Given the description of an element on the screen output the (x, y) to click on. 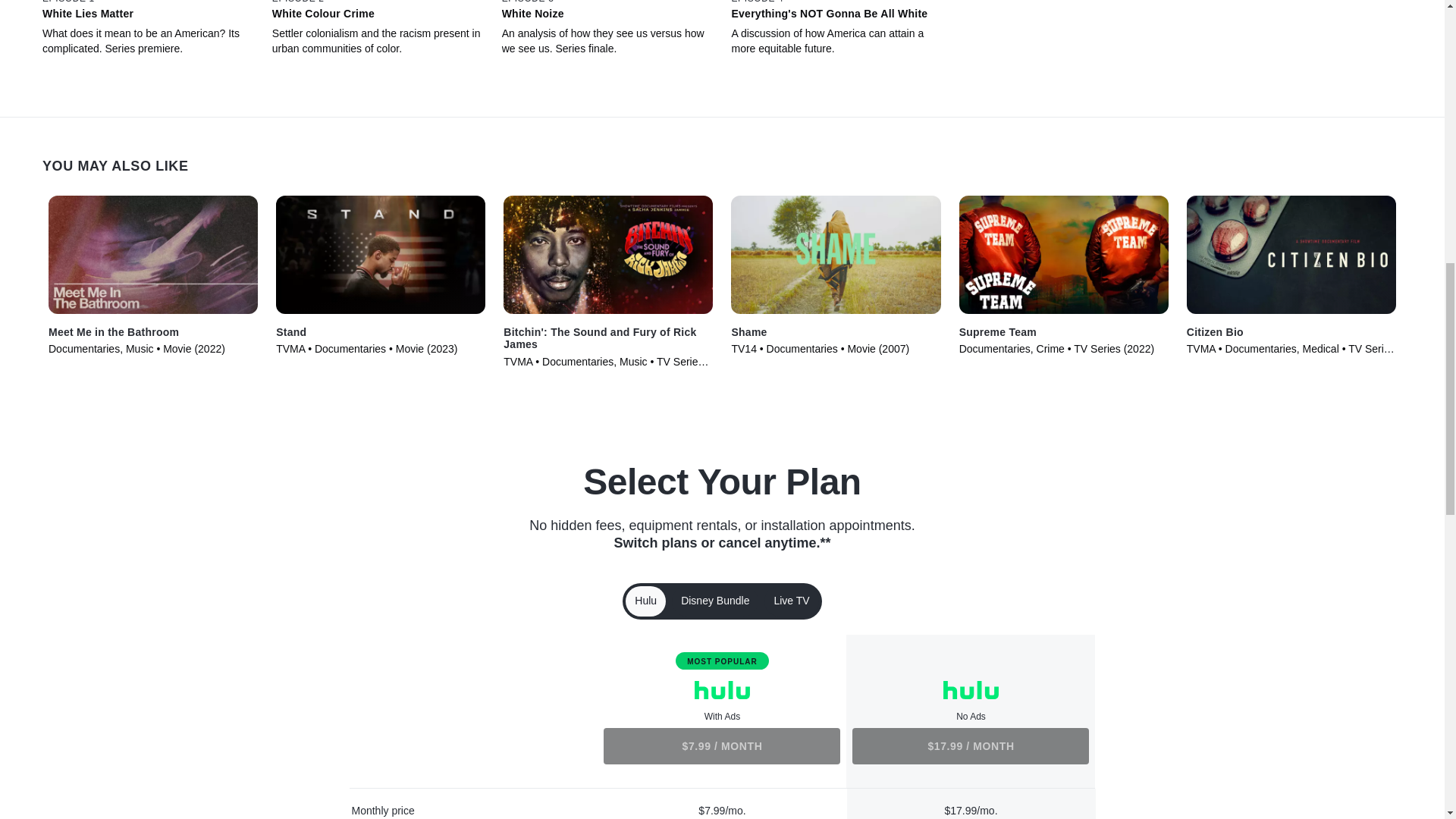
Meet Me in the Bathroom (113, 332)
Citizen Bio (1214, 332)
Shame (748, 332)
Bitchin': The Sound and Fury of Rick James (608, 338)
Supreme Team (997, 332)
Stand (290, 332)
